Given the description of an element on the screen output the (x, y) to click on. 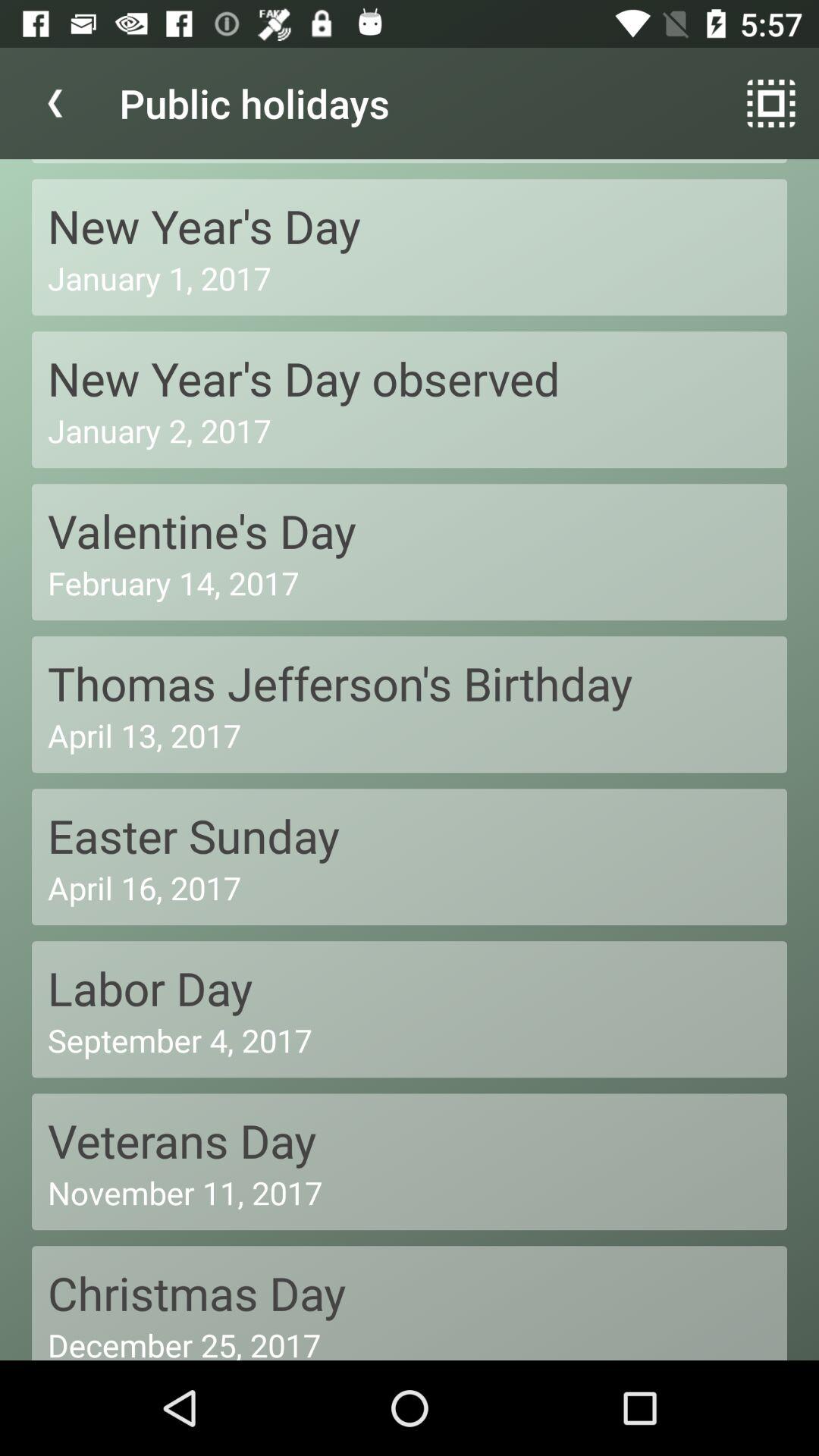
launch christmas day (409, 1292)
